Given the description of an element on the screen output the (x, y) to click on. 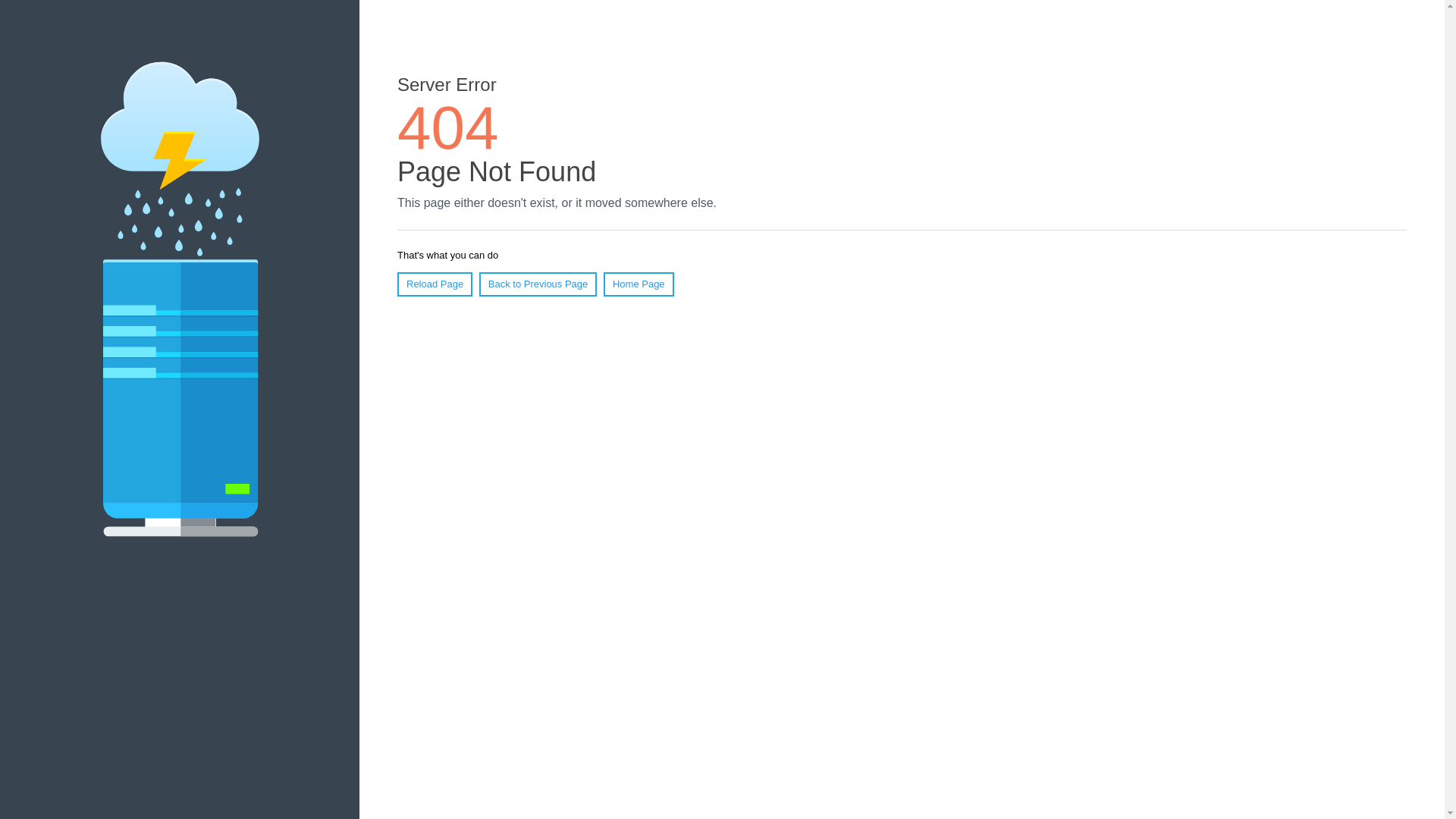
Back to Previous Page Element type: text (538, 284)
Reload Page Element type: text (434, 284)
Home Page Element type: text (638, 284)
